Given the description of an element on the screen output the (x, y) to click on. 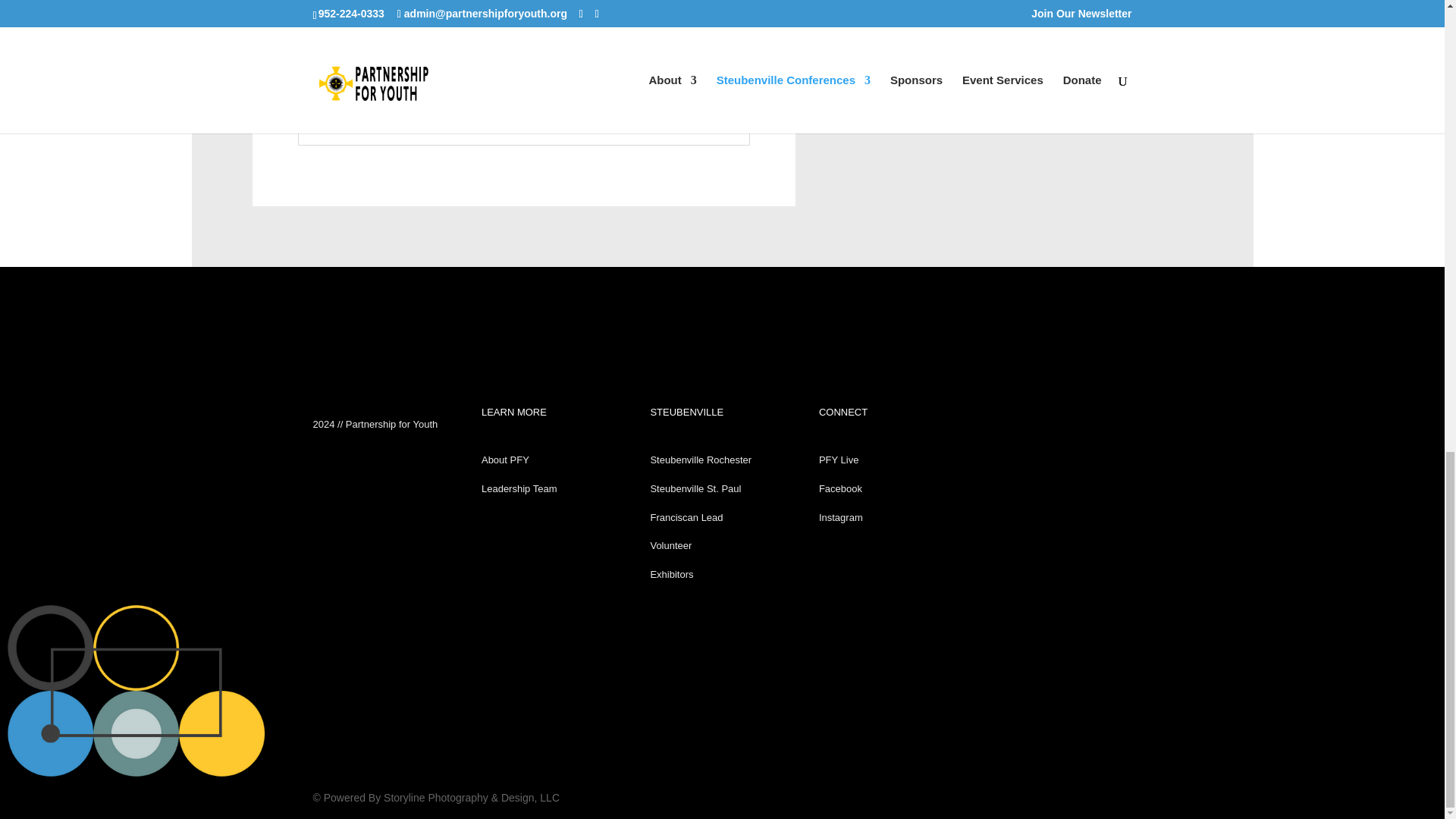
Code of Conduct Form (368, 91)
Medical Liability Form (365, 119)
